Given the description of an element on the screen output the (x, y) to click on. 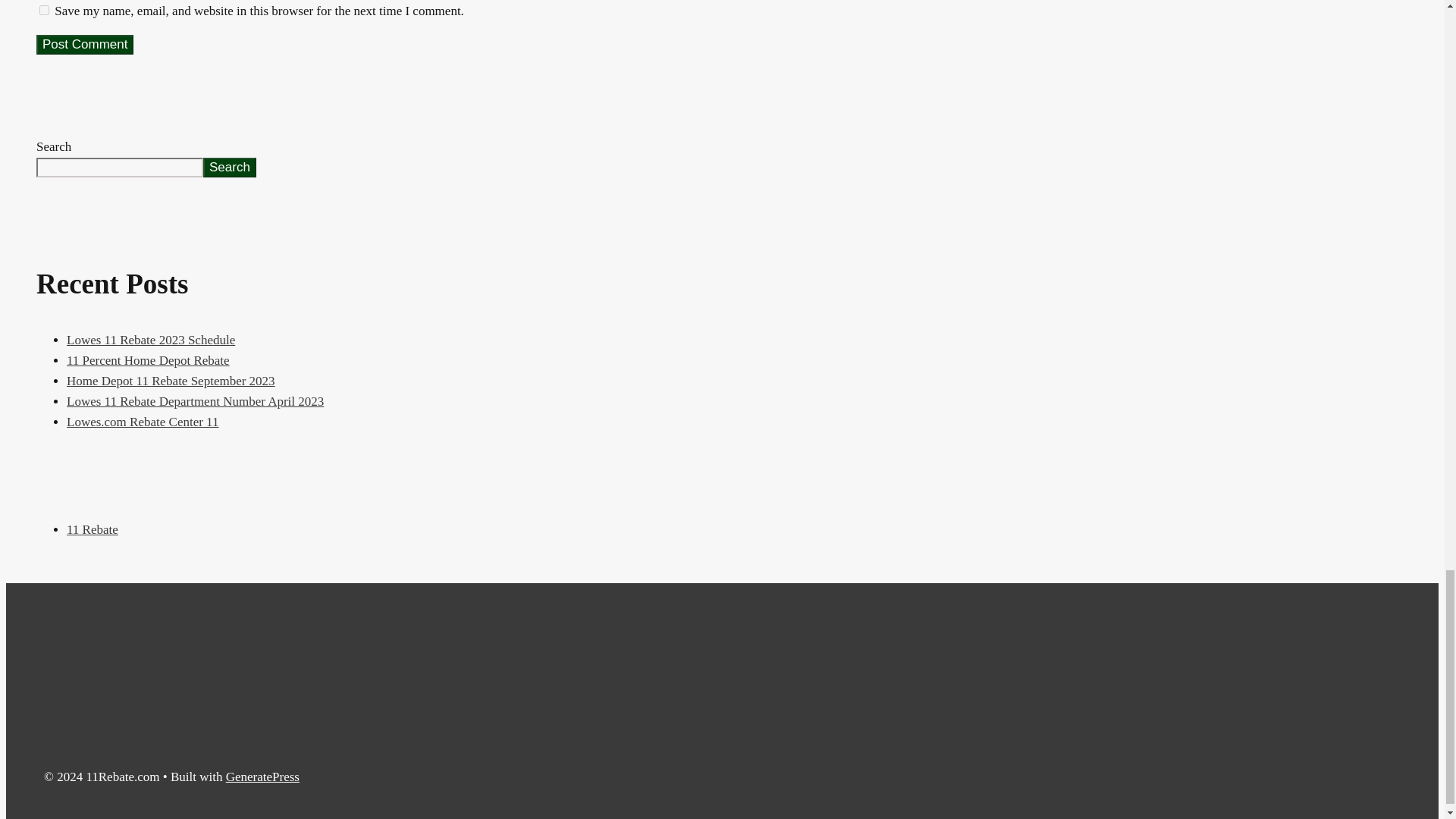
Search (229, 167)
GeneratePress (262, 776)
11 Percent Home Depot Rebate (148, 359)
Post Comment (84, 44)
Post Comment (84, 44)
11 Rebate (91, 529)
yes (44, 9)
Home Depot 11 Rebate September 2023 (170, 380)
Lowes 11 Rebate 2023 Schedule (150, 339)
Lowes.com Rebate Center 11 (142, 421)
